Given the description of an element on the screen output the (x, y) to click on. 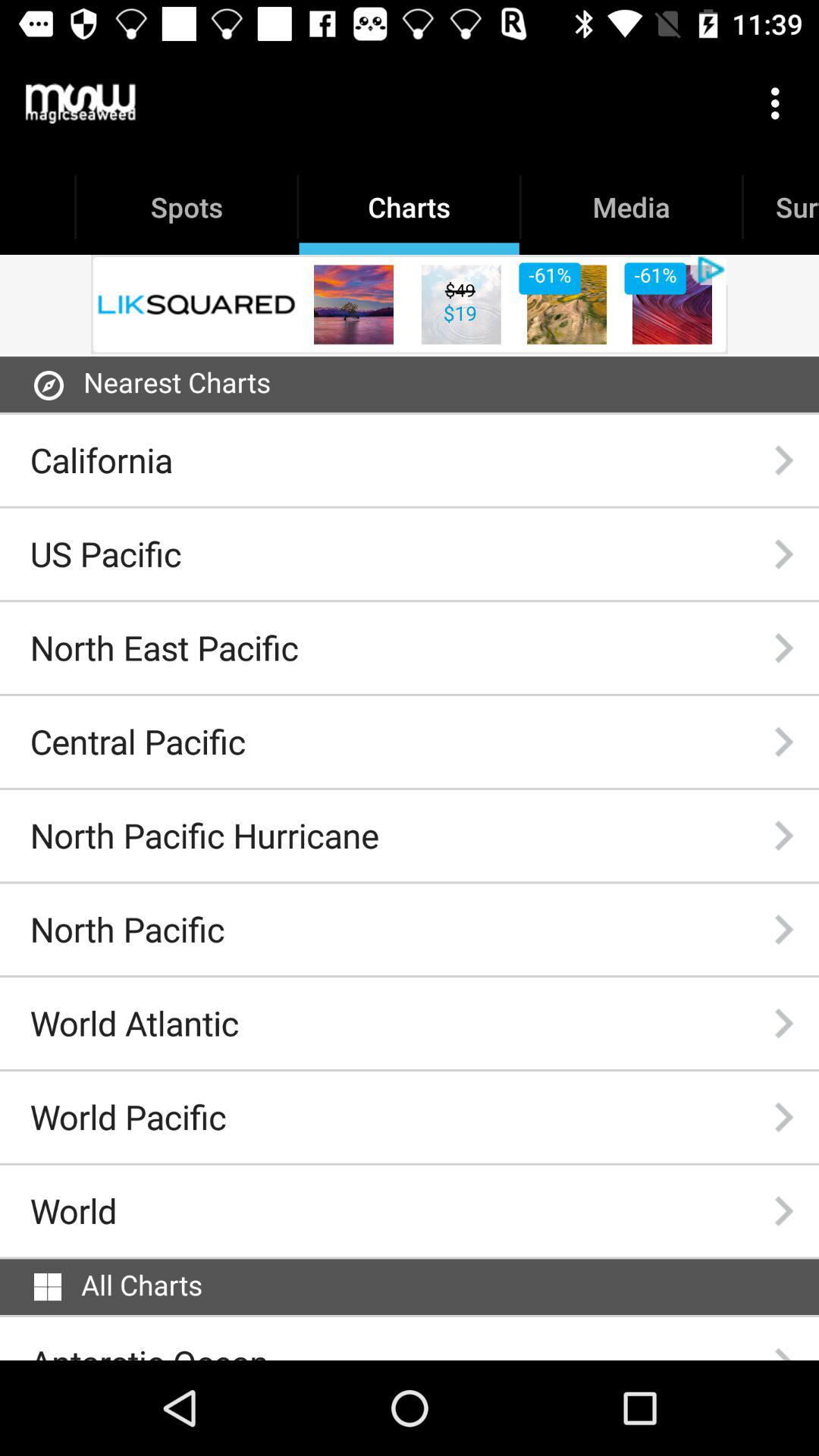
click item above us pacific icon (101, 459)
